Given the description of an element on the screen output the (x, y) to click on. 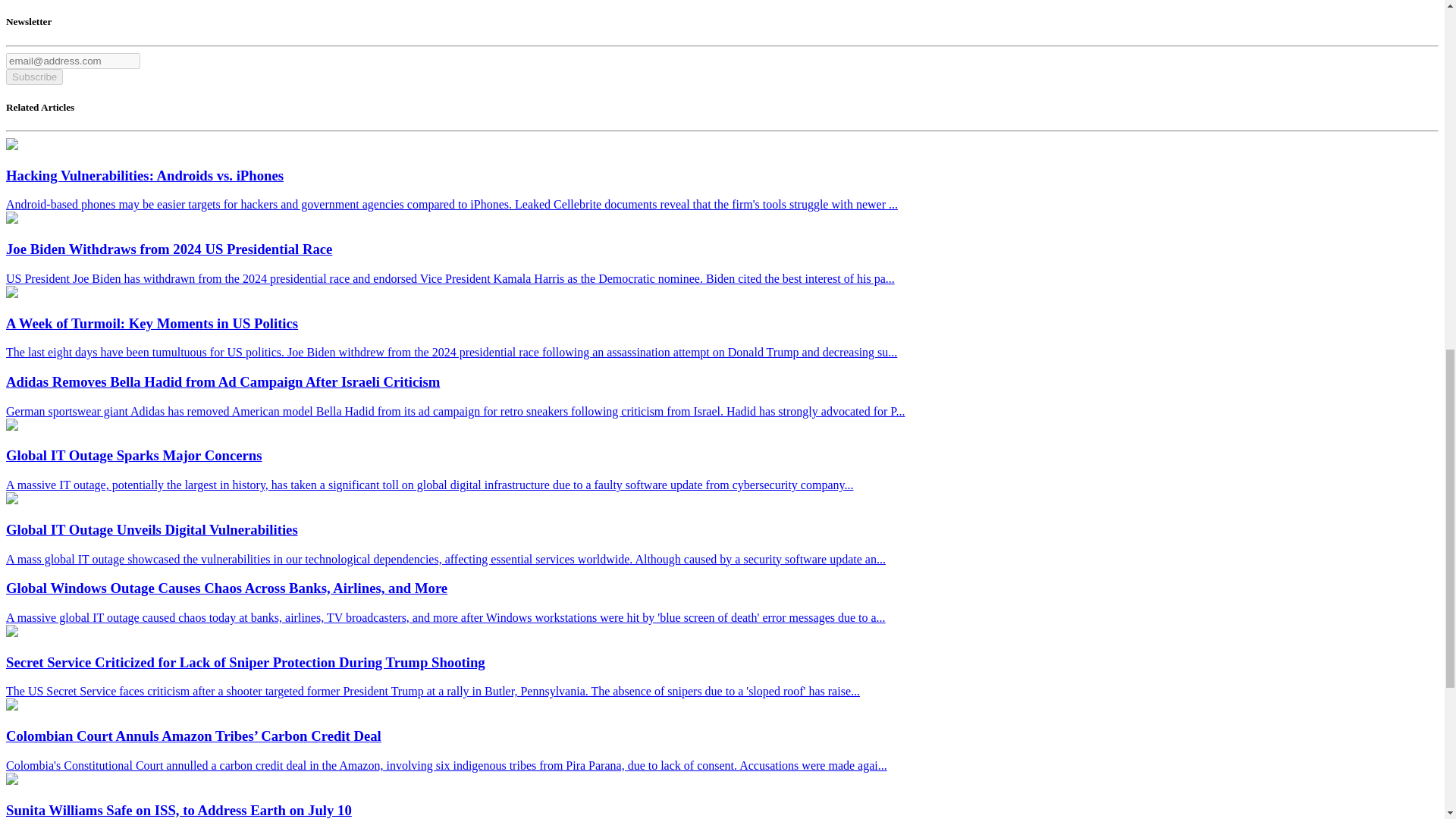
Joe Biden Withdraws from 2024 US Presidential Race (11, 219)
A Week of Turmoil: Key Moments in US Politics (11, 293)
Sunita Williams Safe on ISS, to Address Earth on July 10 (11, 780)
Global IT Outage Sparks Major Concerns (11, 426)
Hacking Vulnerabilities: Androids vs. iPhones (11, 145)
Global IT Outage Unveils Digital Vulnerabilities (11, 499)
Subscribe (33, 76)
